Given the description of an element on the screen output the (x, y) to click on. 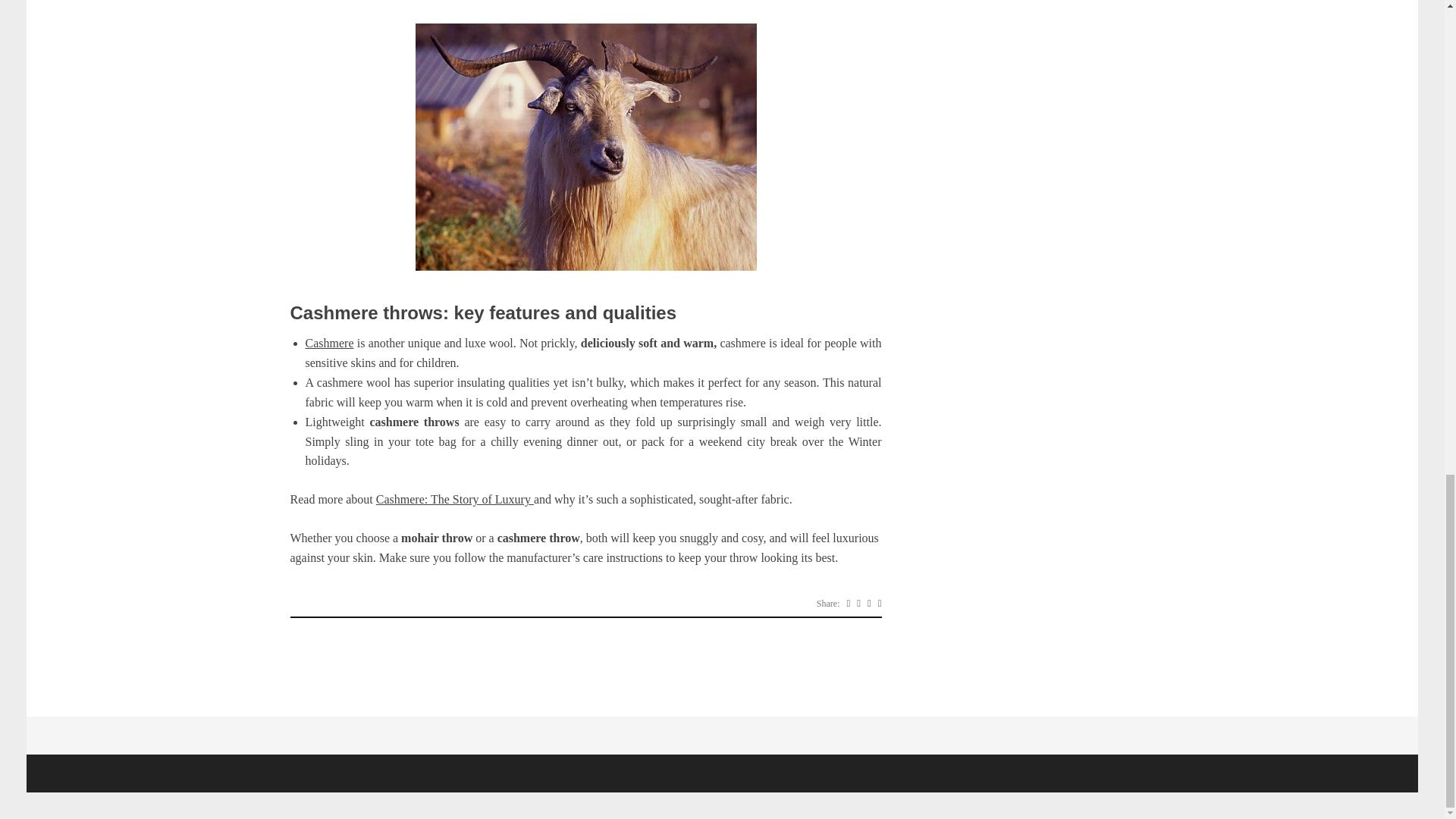
Cashmere (328, 342)
Cashmere: The Story of Luxury (454, 499)
What is cashmere wool - WoolMe (585, 147)
